Given the description of an element on the screen output the (x, y) to click on. 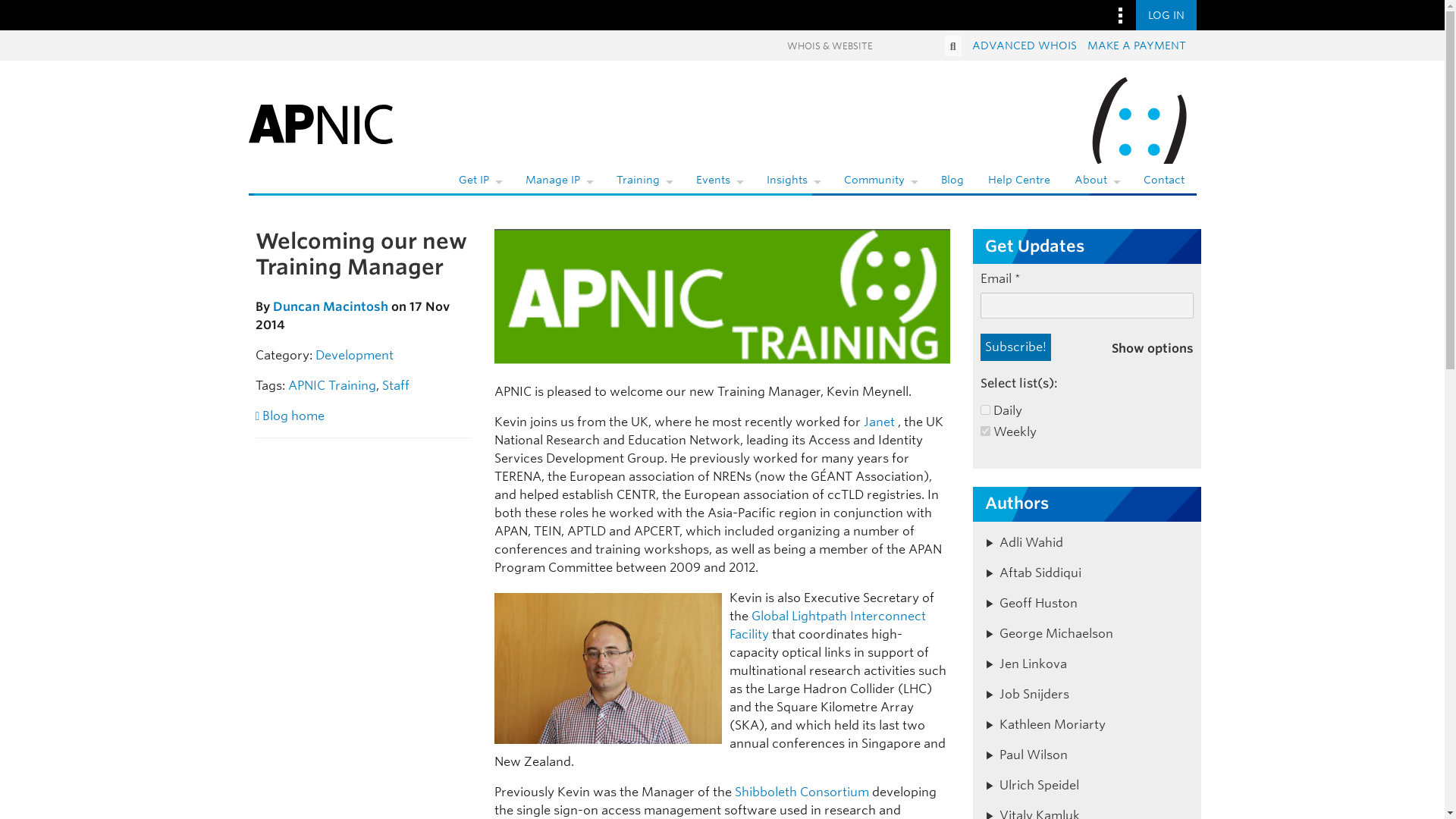
3 (984, 430)
View all posts in Development (354, 355)
Email (1086, 305)
4 (984, 409)
Subscribe! (1015, 347)
LOG IN (1165, 15)
Posts by Duncan Macintosh (330, 306)
ADVANCED WHOIS (1024, 45)
MAKE A PAYMENT (1136, 45)
